Given the description of an element on the screen output the (x, y) to click on. 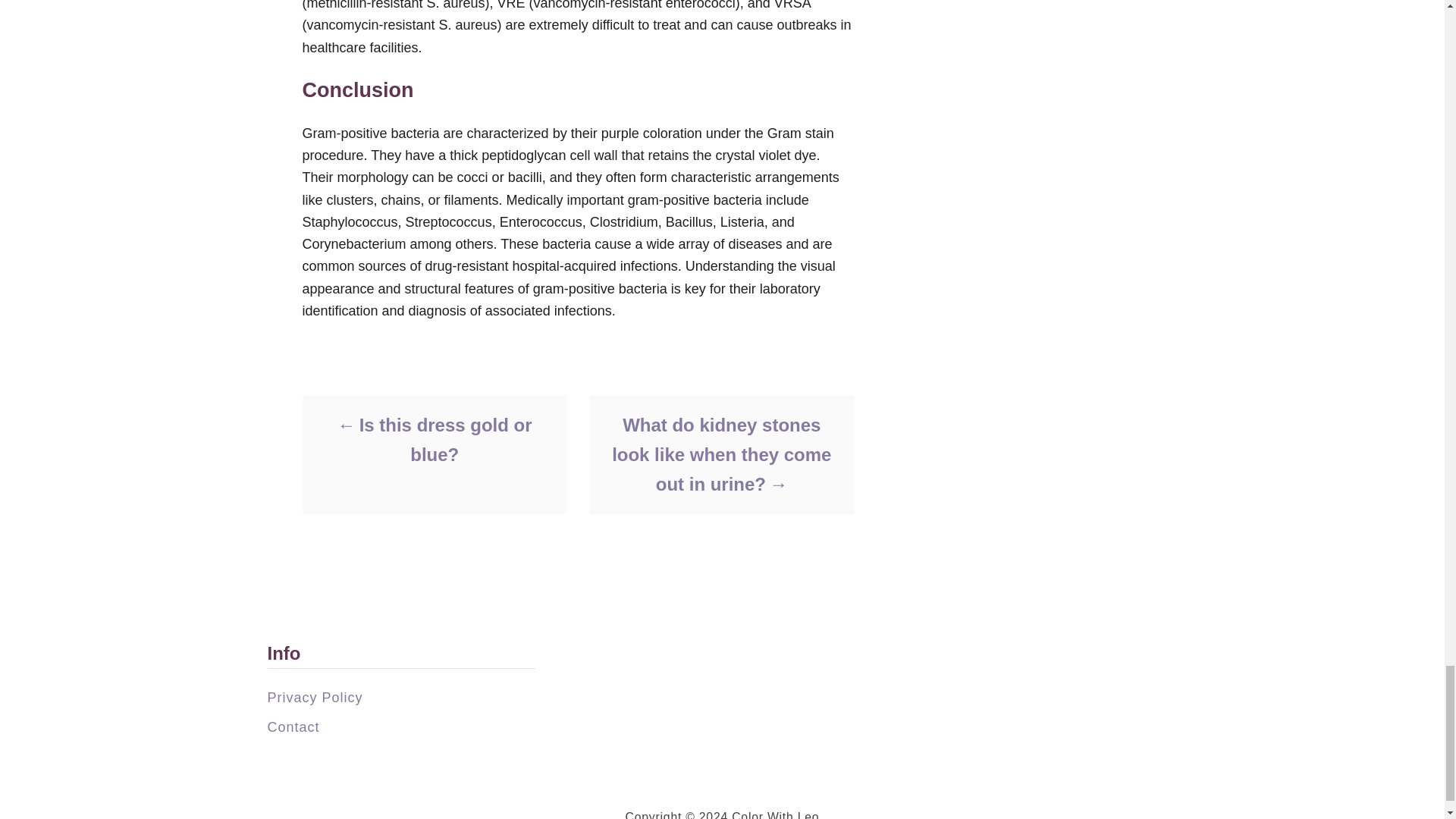
Contact (292, 726)
Is this dress gold or blue? (434, 439)
Privacy Policy (314, 697)
What do kidney stones look like when they come out in urine? (721, 454)
